Given the description of an element on the screen output the (x, y) to click on. 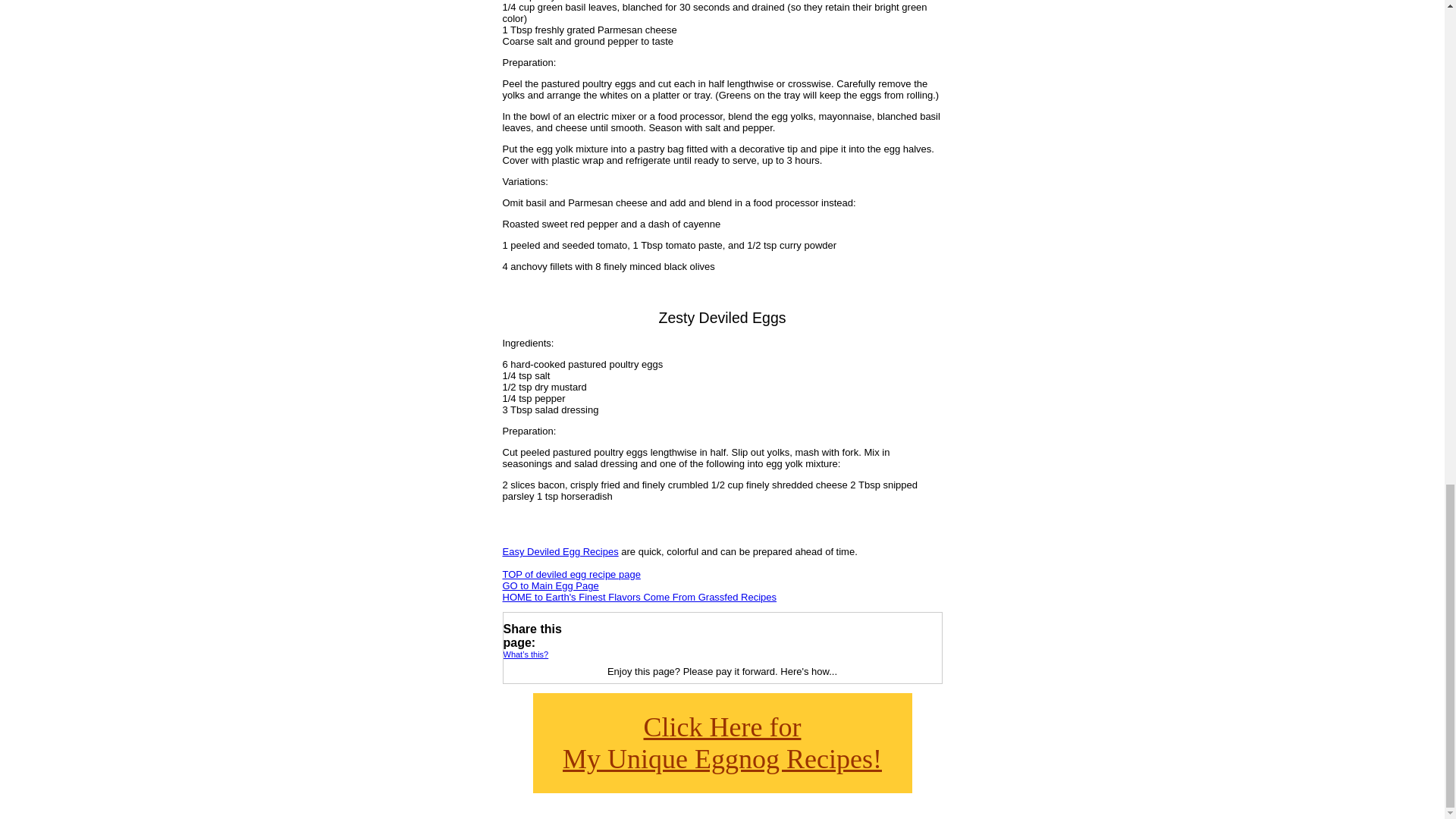
TOP of deviled egg recipe page (571, 573)
GO to Main Egg Page (550, 585)
HOME to Earth's Finest Flavors Come From Grassfed Recipes (639, 596)
Easy Deviled Egg Recipes (722, 742)
